Given the description of an element on the screen output the (x, y) to click on. 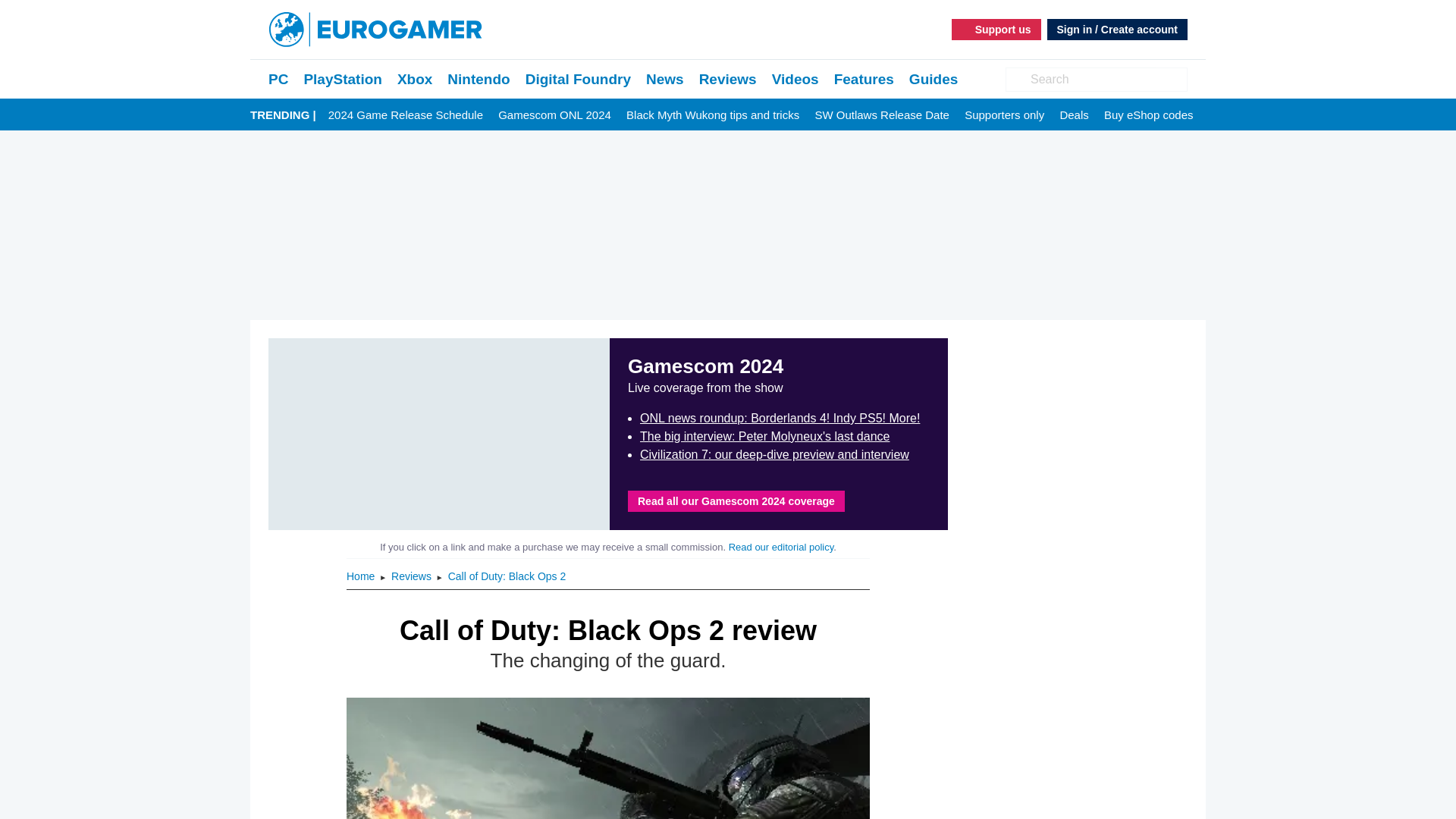
Nintendo (477, 78)
Reviews (727, 78)
Nintendo (477, 78)
Deals (1073, 114)
Gamescom ONL 2024 (554, 114)
Black Myth Wukong tips and tricks (712, 114)
ONL news roundup: Borderlands 4! Indy PS5! More! (780, 418)
Xbox (414, 78)
Features (863, 78)
2024 Game Release Schedule (406, 114)
